Given the description of an element on the screen output the (x, y) to click on. 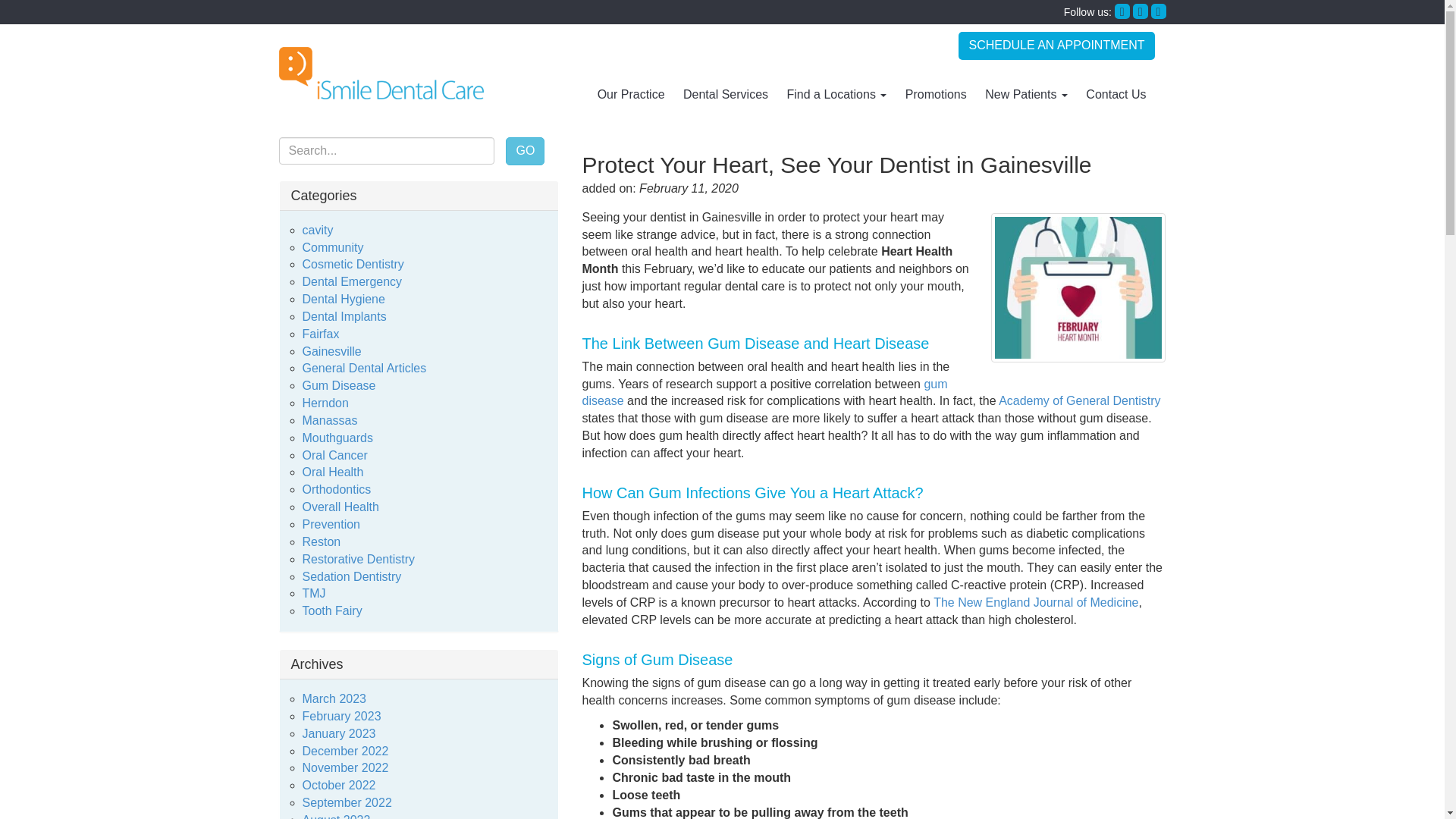
Community (331, 246)
Academy of General Dentistry (1079, 400)
Our Practice (630, 94)
New Patients (1025, 94)
Promotions (936, 94)
SCHEDULE AN APPOINTMENT (1056, 45)
Dental Hygiene (342, 298)
GO (524, 151)
iSmile Dental Care (381, 72)
Dental Emergency (351, 281)
cavity (317, 229)
Contact Us (1115, 94)
The New England Journal of Medicine (1035, 602)
Find a Locations (836, 94)
Cosmetic Dentistry (352, 264)
